Given the description of an element on the screen output the (x, y) to click on. 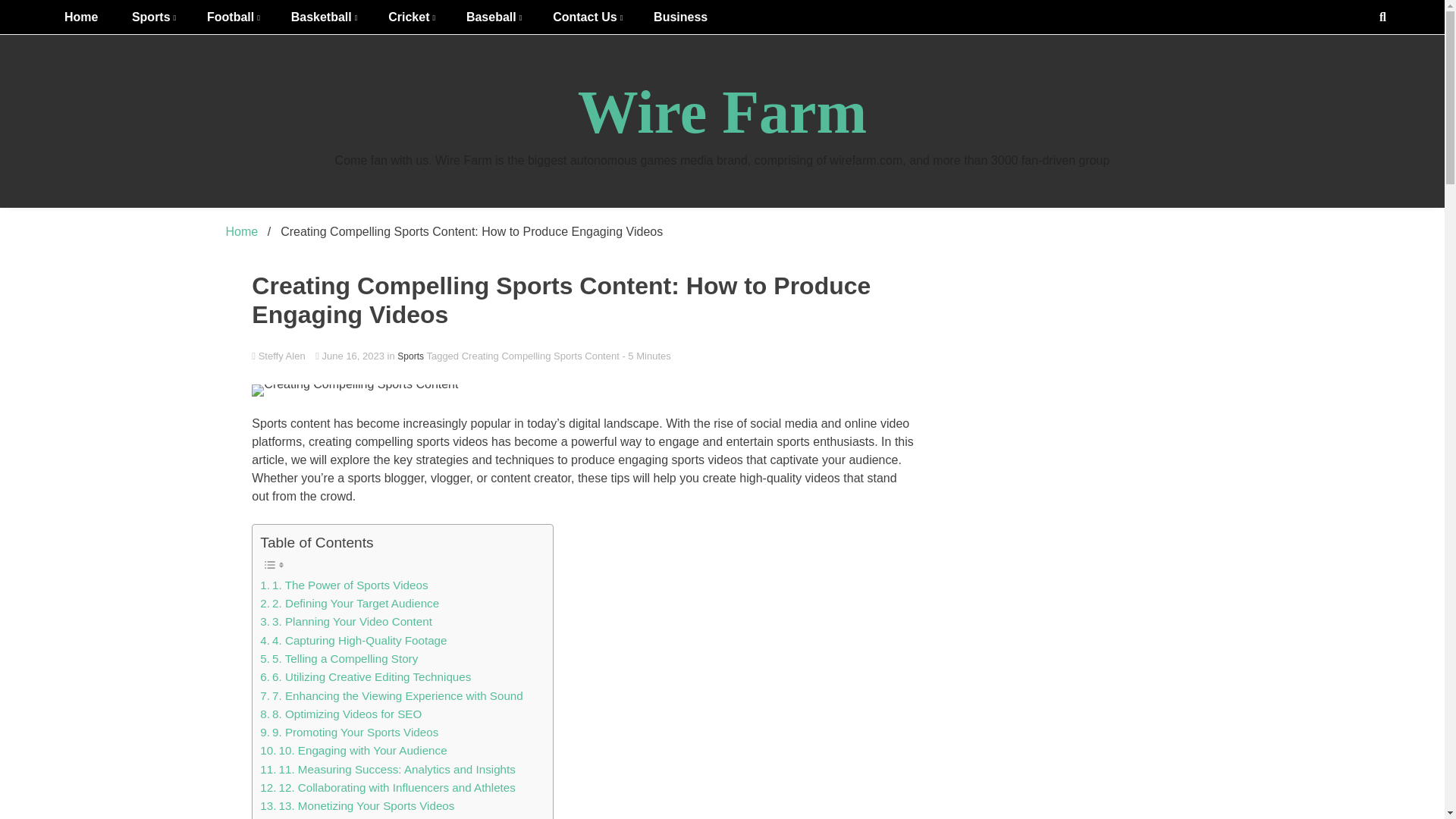
14. Staying Updated with Trends and Technologies (398, 817)
Cricket (409, 17)
Wire Farm (722, 111)
Sports (152, 17)
Home (81, 17)
Home (242, 231)
4. Capturing High-Quality Footage (353, 640)
10. Engaging with Your Audience (353, 751)
Creating Compelling Sports Content (582, 390)
12. Collaborating with Influencers and Athletes (387, 787)
